Given the description of an element on the screen output the (x, y) to click on. 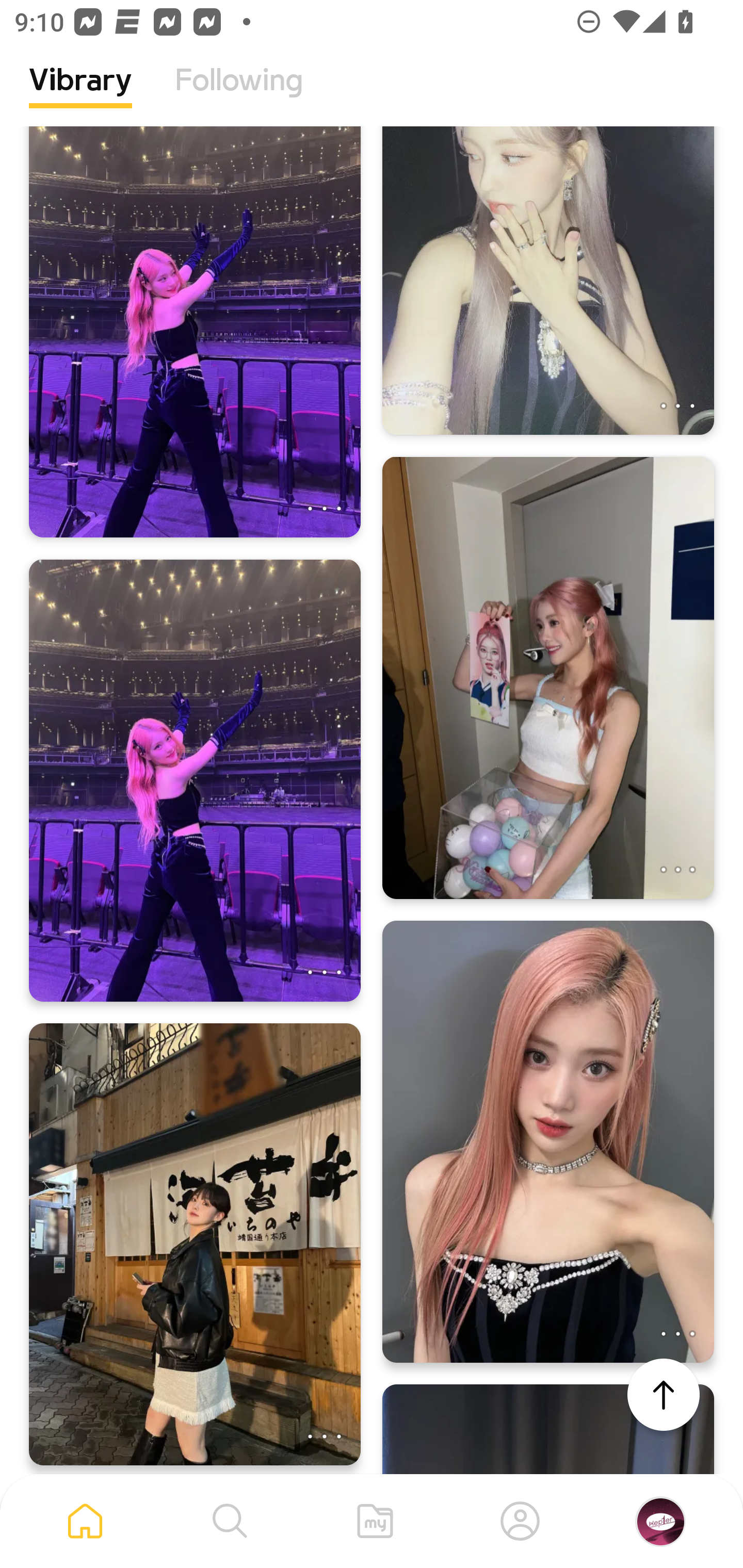
Vibrary (80, 95)
Following (239, 95)
